Given the description of an element on the screen output the (x, y) to click on. 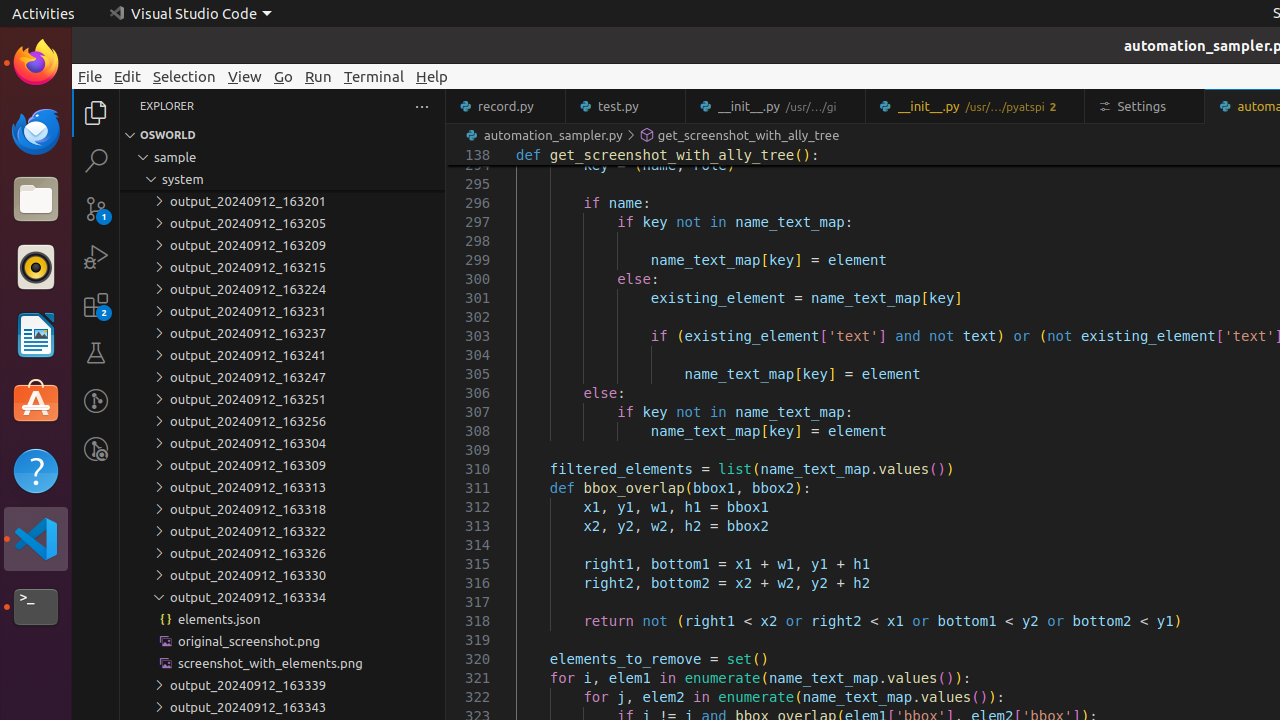
output_20240912_163224 Element type: tree-item (282, 289)
output_20240912_163330 Element type: tree-item (282, 575)
Run and Debug (Ctrl+Shift+D) Element type: page-tab (96, 257)
output_20240912_163201 Element type: tree-item (282, 201)
